Given the description of an element on the screen output the (x, y) to click on. 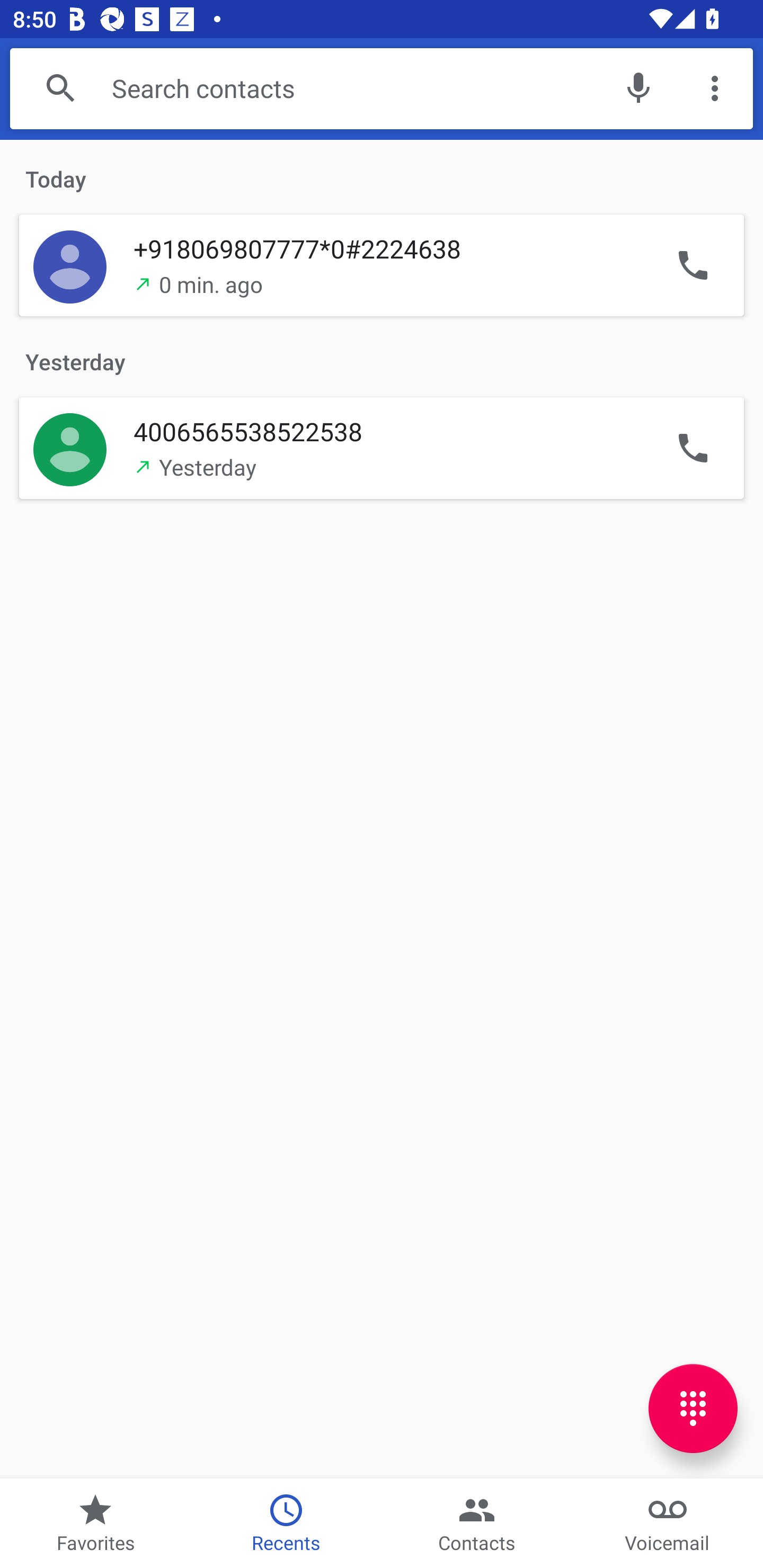
Search contacts Start voice search More options (381, 88)
Start voice search (638, 88)
More options (714, 88)
Quick contact for +918069807777*0#2224638 (70, 265)
Call +918069807777*0#2224638 (692, 265)
Quick contact for 4006565538522538 (70, 447)
Call 4006565538522538 (692, 447)
key pad (692, 1408)
Favorites (95, 1523)
Recents (285, 1523)
Contacts (476, 1523)
Voicemail (667, 1523)
